Given the description of an element on the screen output the (x, y) to click on. 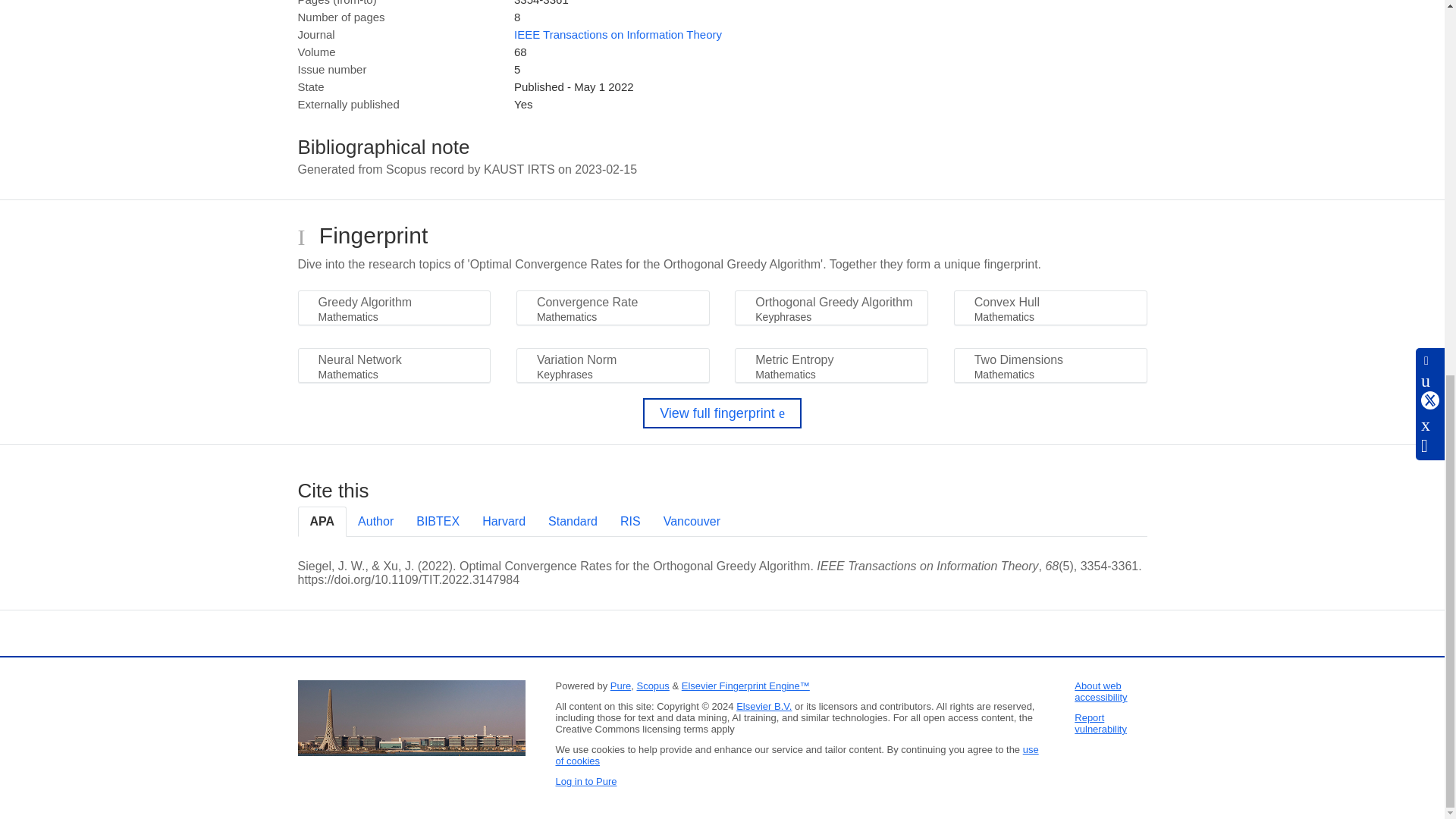
View full fingerprint (722, 413)
Pure (620, 685)
Scopus (652, 685)
IEEE Transactions on Information Theory (617, 33)
